Given the description of an element on the screen output the (x, y) to click on. 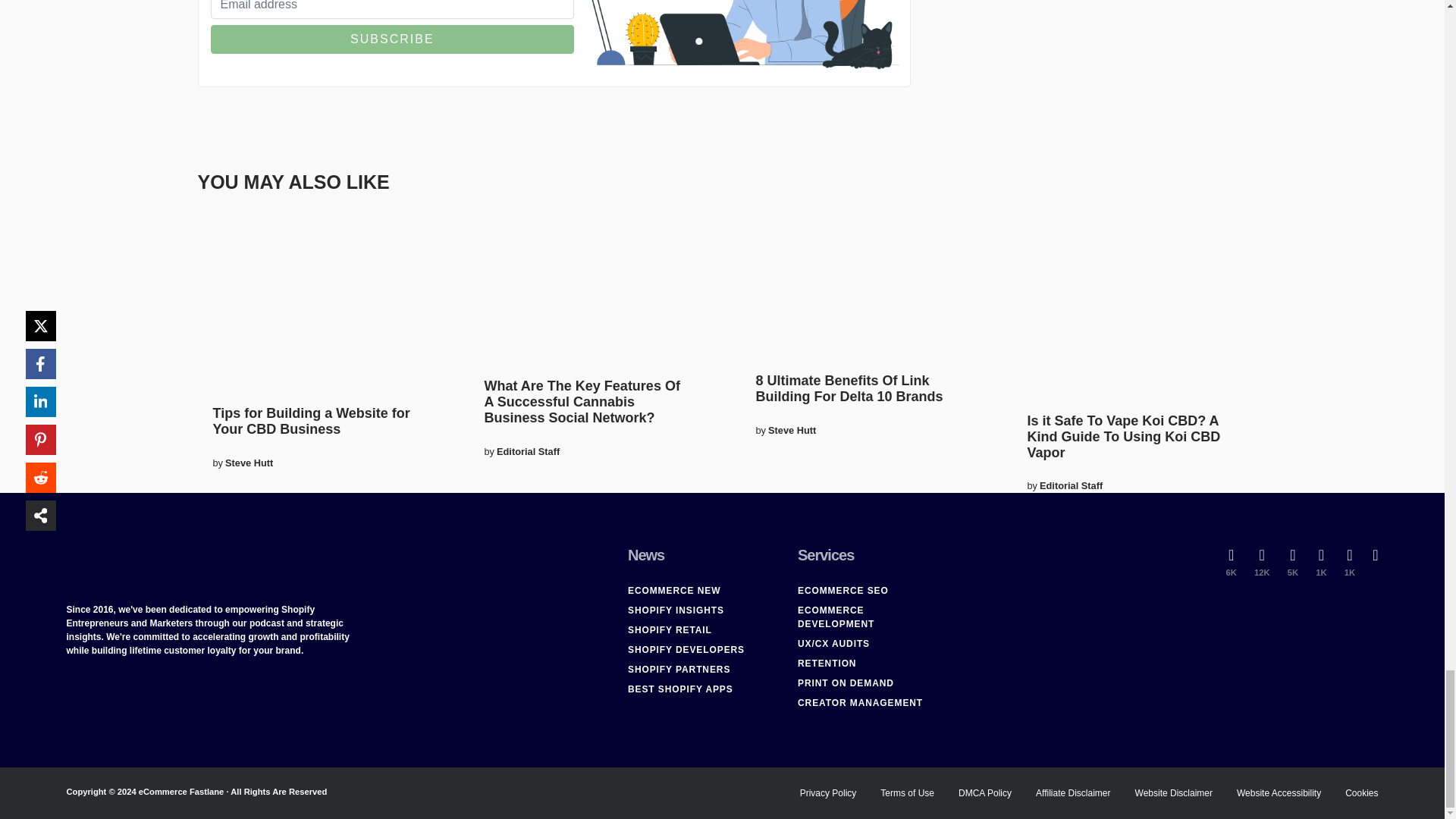
View all posts by Editorial Staff (527, 451)
View all posts by Steve Hutt (249, 462)
View all posts by Editorial Staff (1070, 485)
SUBSCRIBE (393, 39)
View all posts by Steve Hutt (791, 430)
